Given the description of an element on the screen output the (x, y) to click on. 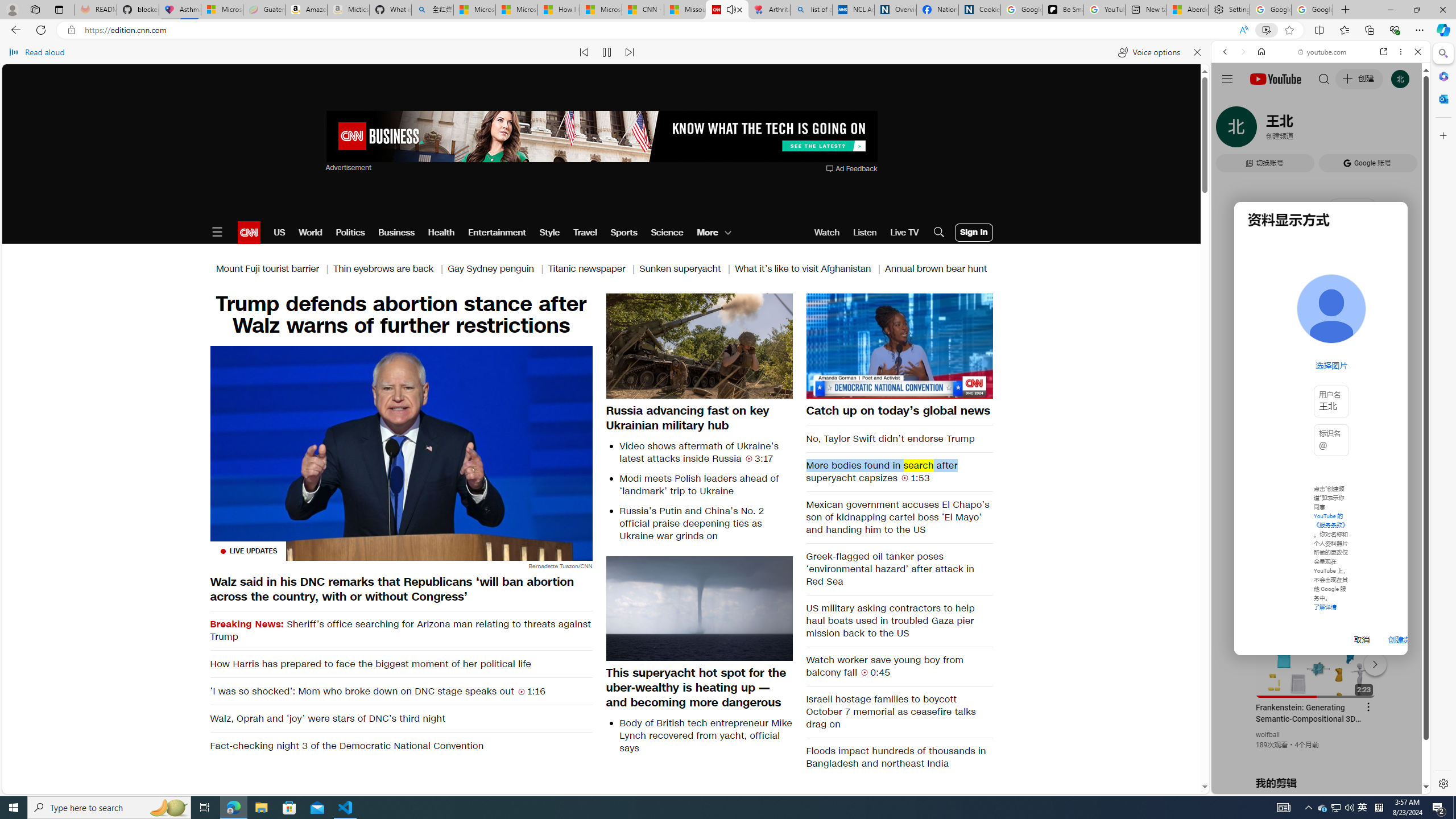
YouTube - YouTube (1315, 560)
Listen (864, 232)
Style (549, 232)
Show More Music (1390, 310)
